Given the description of an element on the screen output the (x, y) to click on. 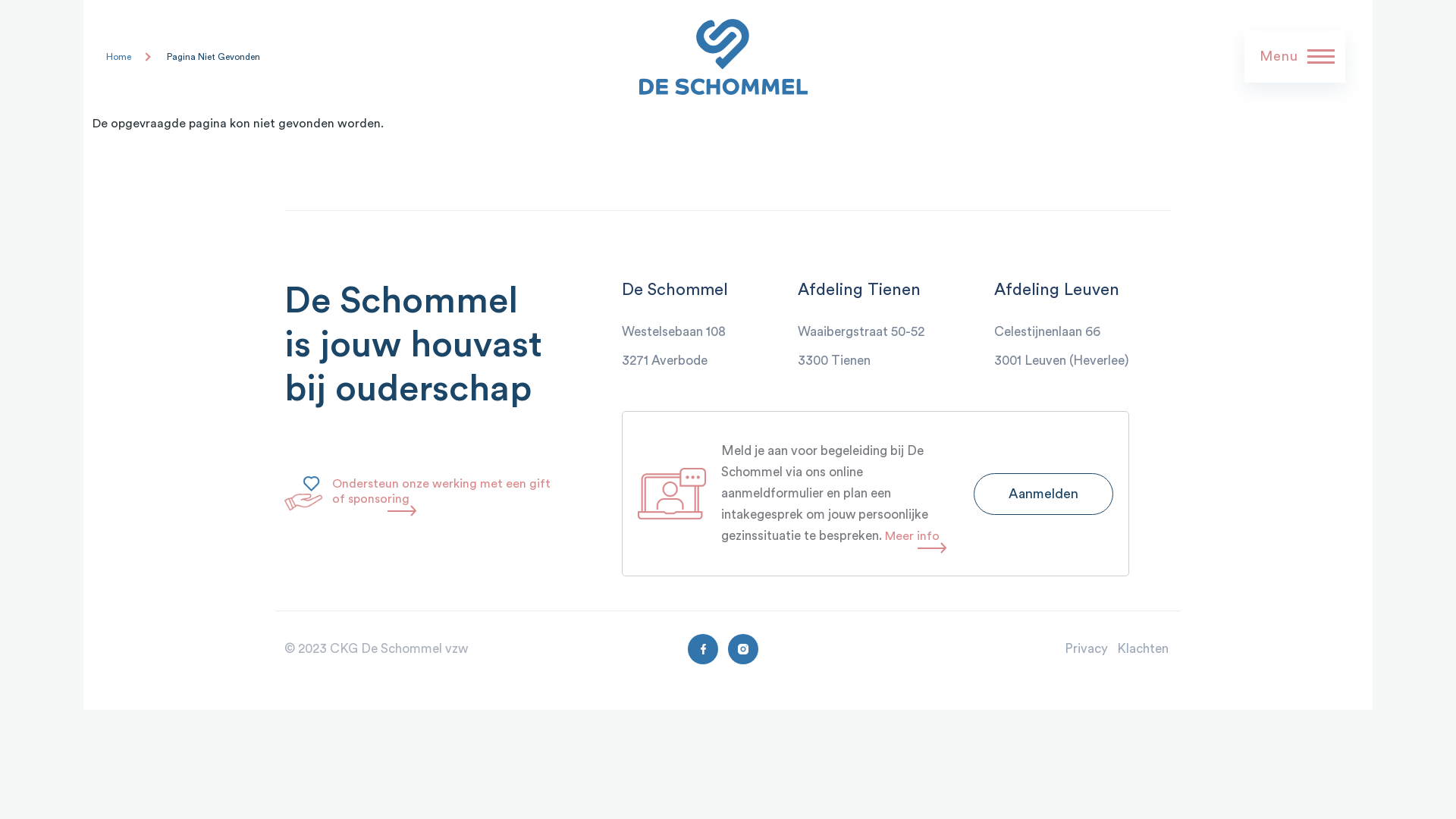
Klachten  Element type: text (1144, 648)
Aanmelden Element type: text (1043, 493)
Overslaan en naar de inhoud gaan Element type: text (644, 6)
Privacy Element type: text (1085, 648)
Ondersteun onze werking met een gift of sponsoring Element type: text (441, 491)
Menu Element type: text (1296, 55)
Website De Schommel Element type: text (945, 56)
Meer info Element type: text (911, 536)
Home Element type: text (118, 56)
